Given the description of an element on the screen output the (x, y) to click on. 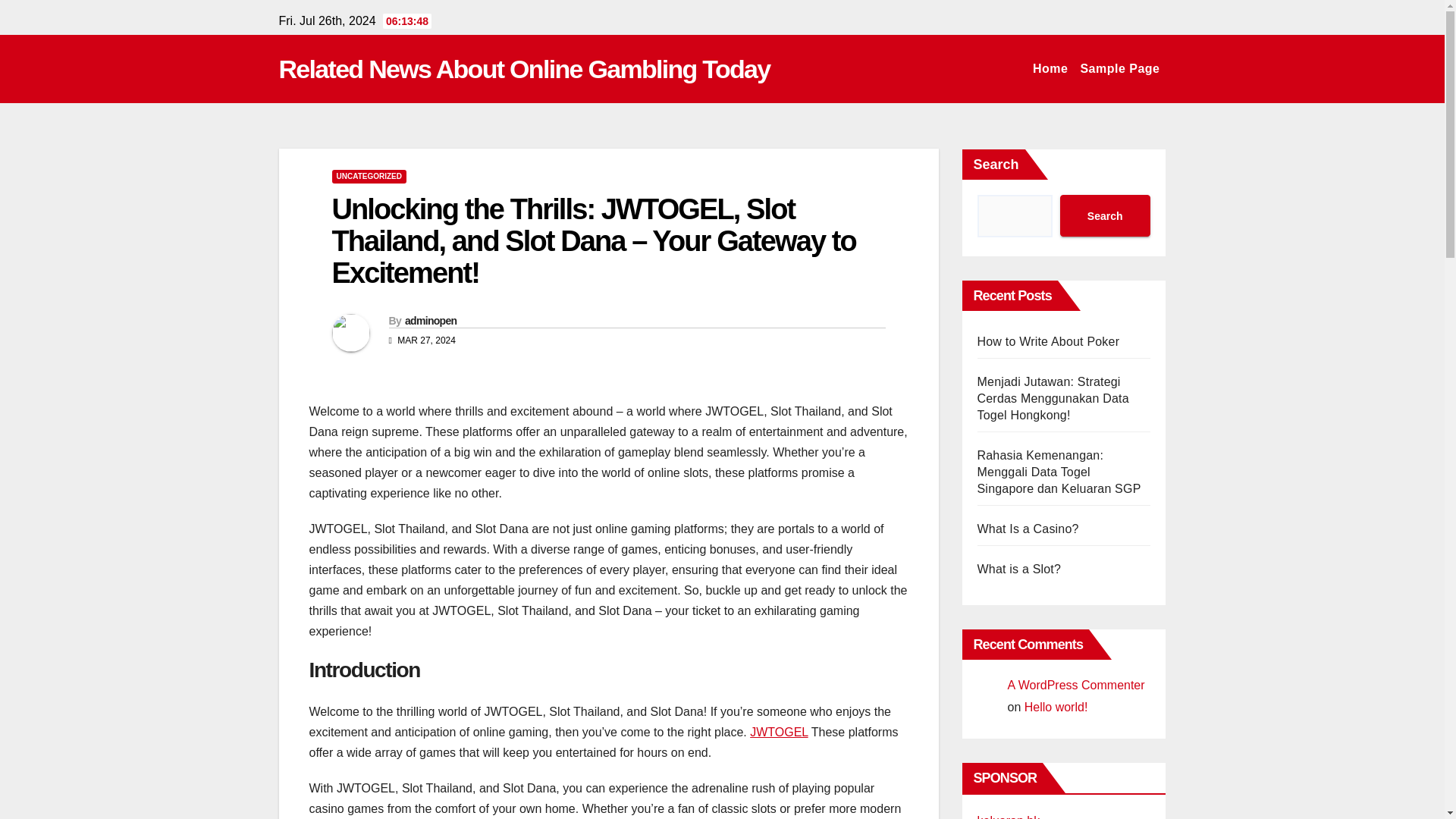
What is a Slot? (1018, 568)
How to Write About Poker (1047, 341)
Sample Page (1120, 69)
Home (1050, 69)
JWTOGEL (778, 731)
Search (1104, 215)
A WordPress Commenter (1075, 684)
UNCATEGORIZED (368, 176)
adminopen (430, 320)
What Is a Casino? (1027, 528)
Home (1050, 69)
Hello world! (1056, 707)
Related News About Online Gambling Today (524, 68)
